Given the description of an element on the screen output the (x, y) to click on. 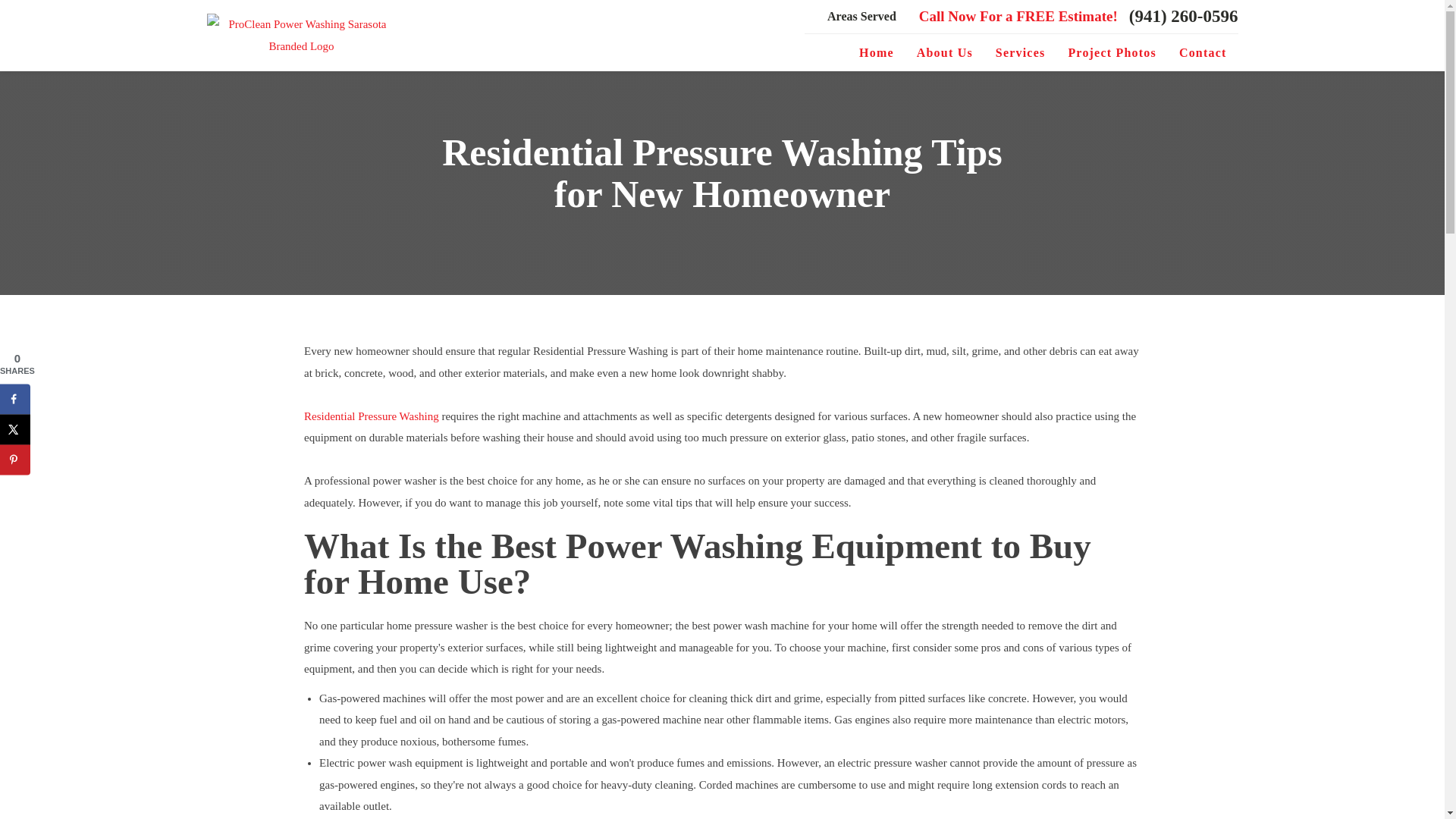
Share on X (15, 429)
Contact (1203, 52)
Residential Pressure Washing (371, 416)
Share on Facebook (15, 399)
Project Photos (1112, 52)
About Us (944, 52)
Services (1020, 52)
Areas Served (861, 15)
Save to Pinterest (15, 459)
Home (876, 52)
